Given the description of an element on the screen output the (x, y) to click on. 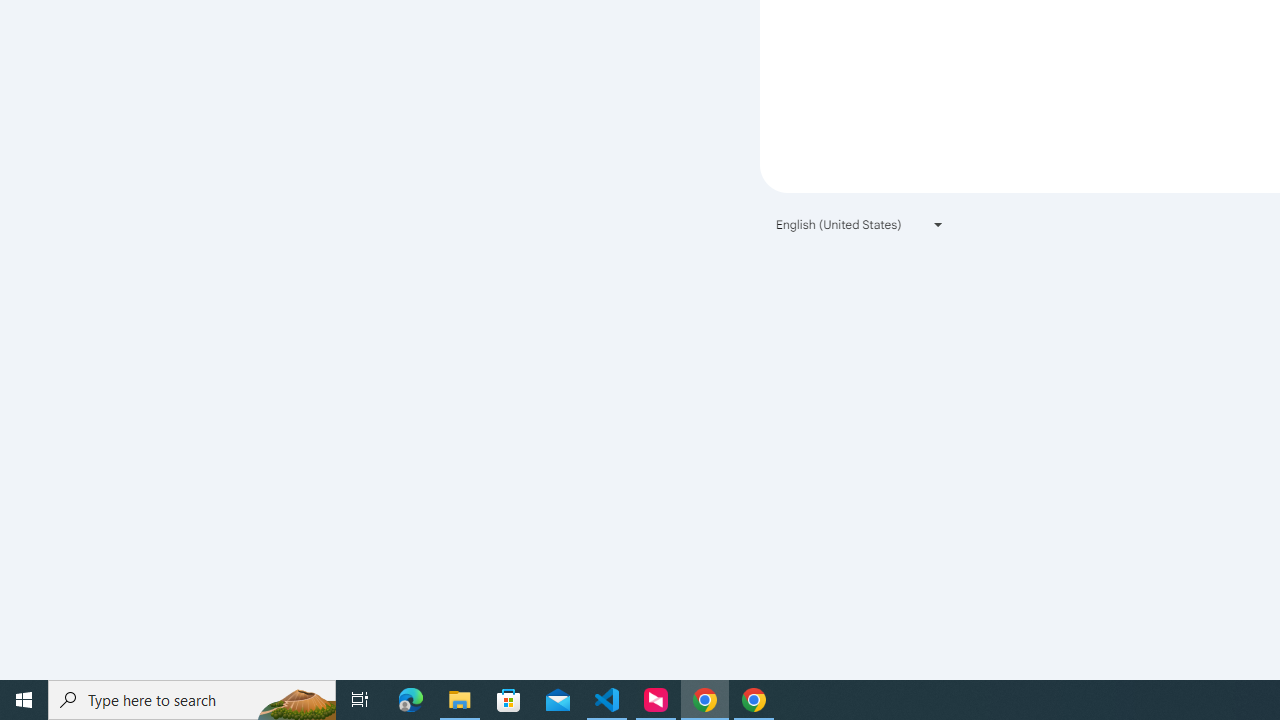
English (United States) (860, 224)
